Given the description of an element on the screen output the (x, y) to click on. 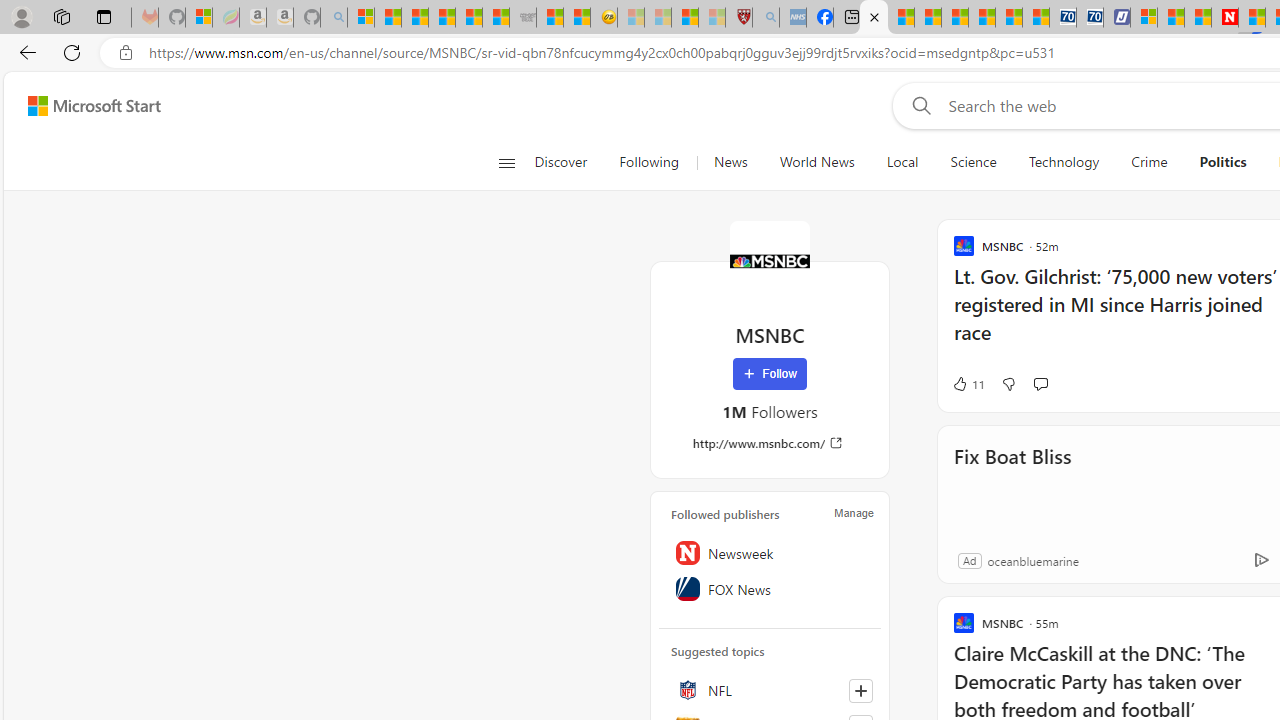
Cheap Hotels - Save70.com (1089, 17)
11 Like (968, 384)
Microsoft account | Privacy (1144, 17)
World News (817, 162)
Start the conversation (1040, 383)
Technology (1063, 162)
NFL (770, 690)
Politics (1222, 162)
Dislike (1008, 384)
Newsweek (770, 552)
Ad Choice (1261, 560)
